Given the description of an element on the screen output the (x, y) to click on. 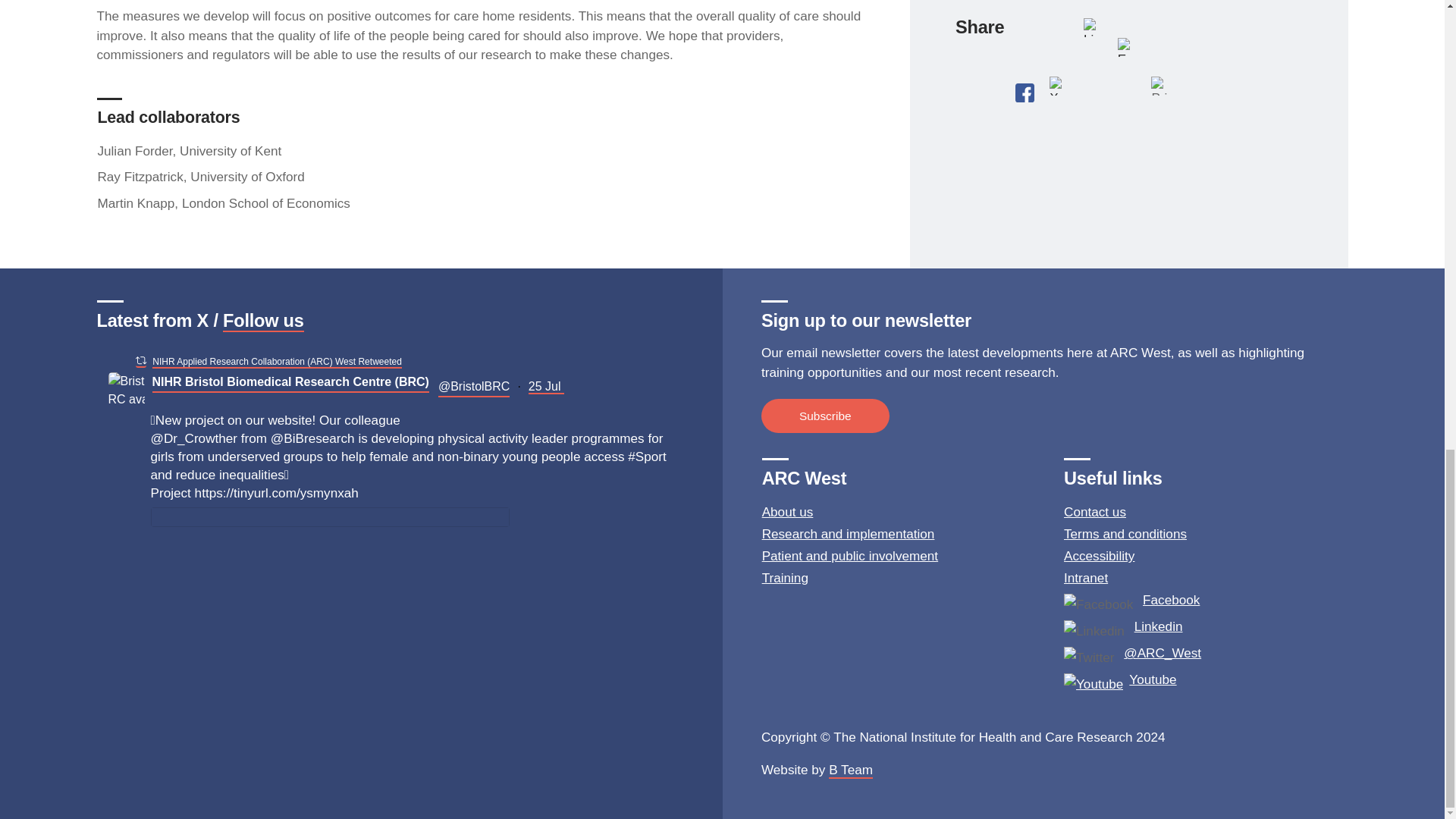
Follow us (263, 321)
Retweet on Twitter (140, 360)
; (125, 390)
